Given the description of an element on the screen output the (x, y) to click on. 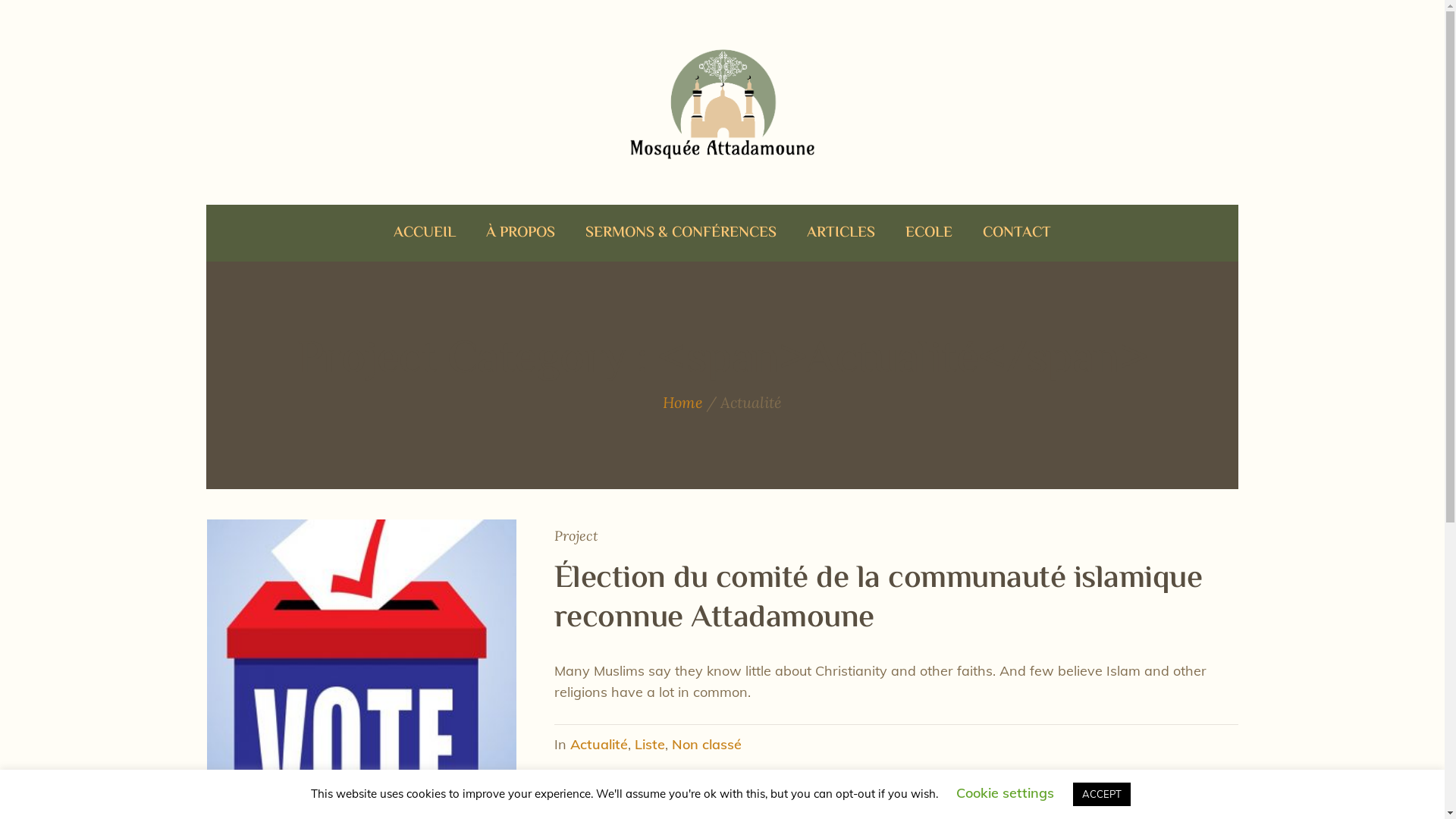
Cookie settings Element type: text (1004, 792)
ACCEPT Element type: text (1100, 794)
ACCUEIL Element type: text (423, 232)
Home Element type: text (682, 401)
CONTACT Element type: text (1016, 232)
ECOLE Element type: text (928, 232)
Liste Element type: text (648, 744)
ARTICLES Element type: text (840, 232)
